Given the description of an element on the screen output the (x, y) to click on. 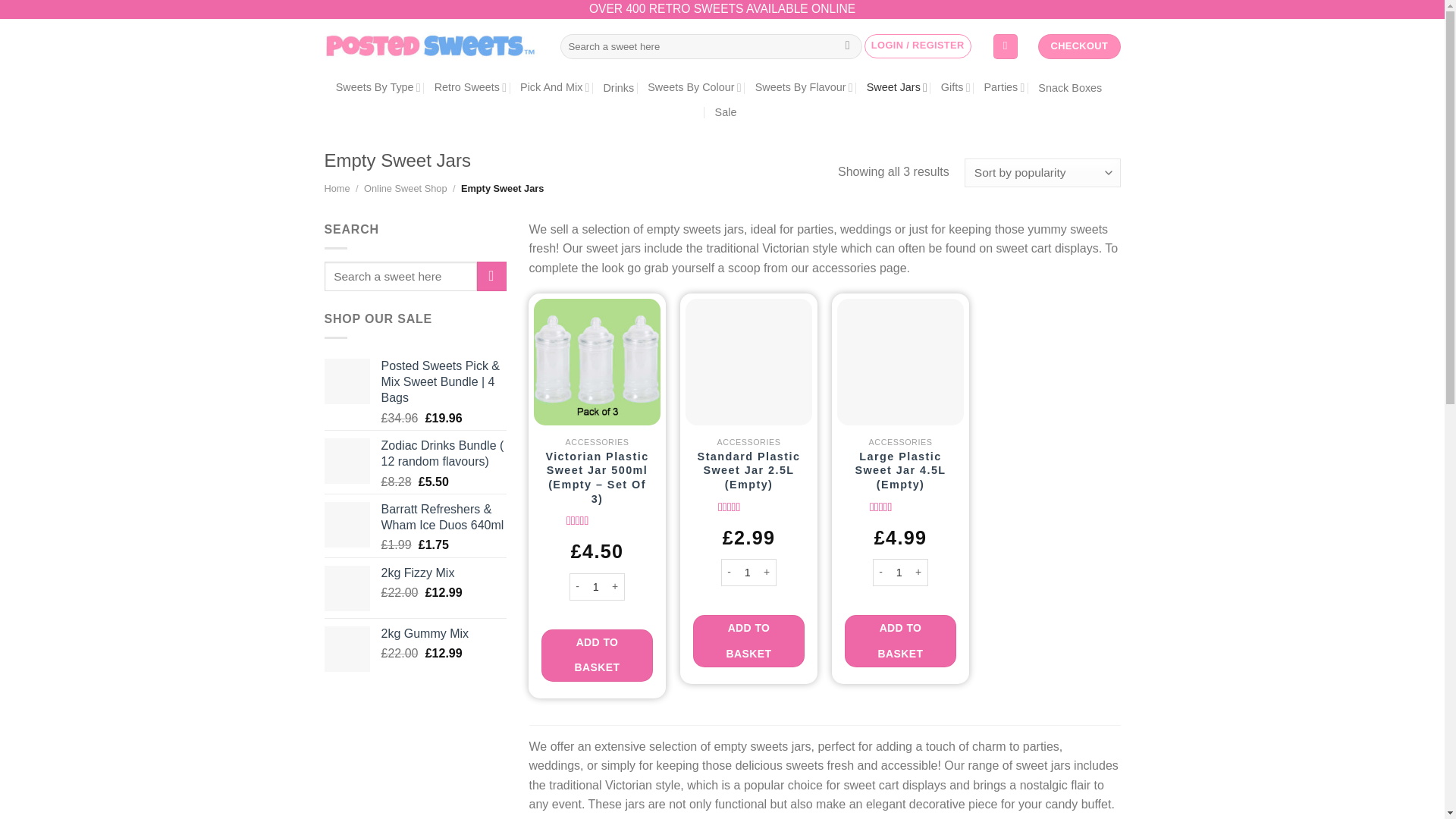
Login (917, 46)
CHECKOUT (1078, 46)
Search (847, 46)
Sweets By Type (378, 87)
OVER 400 RETRO SWEETS AVAILABLE ONLINE (722, 9)
Basket (1004, 46)
